Given the description of an element on the screen output the (x, y) to click on. 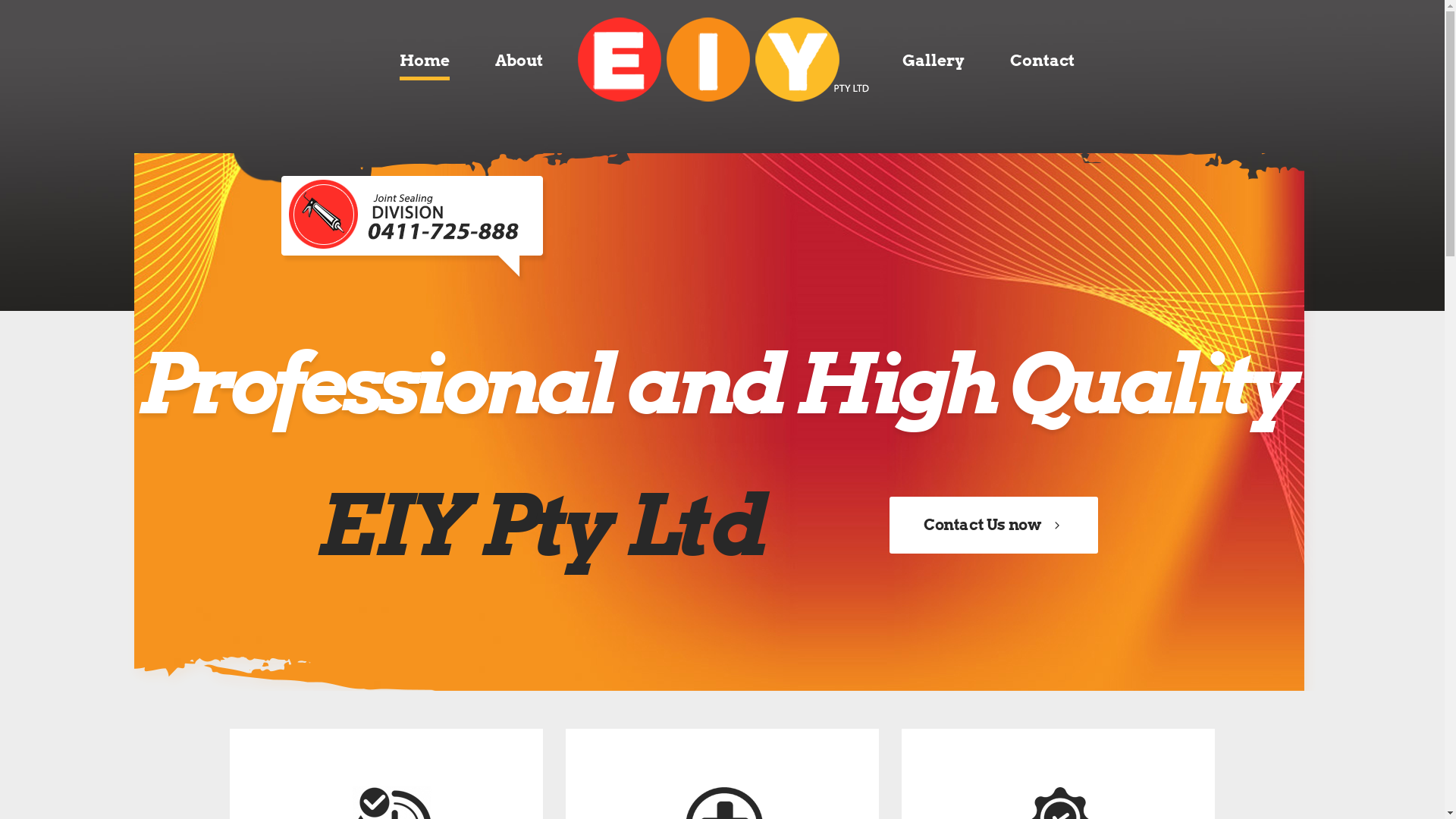
Contact Us now Element type: text (993, 524)
Home Element type: text (423, 60)
home-background Element type: hover (722, 155)
About Element type: text (517, 60)
Contact Element type: text (1042, 60)
Gallery Element type: text (933, 60)
